Given the description of an element on the screen output the (x, y) to click on. 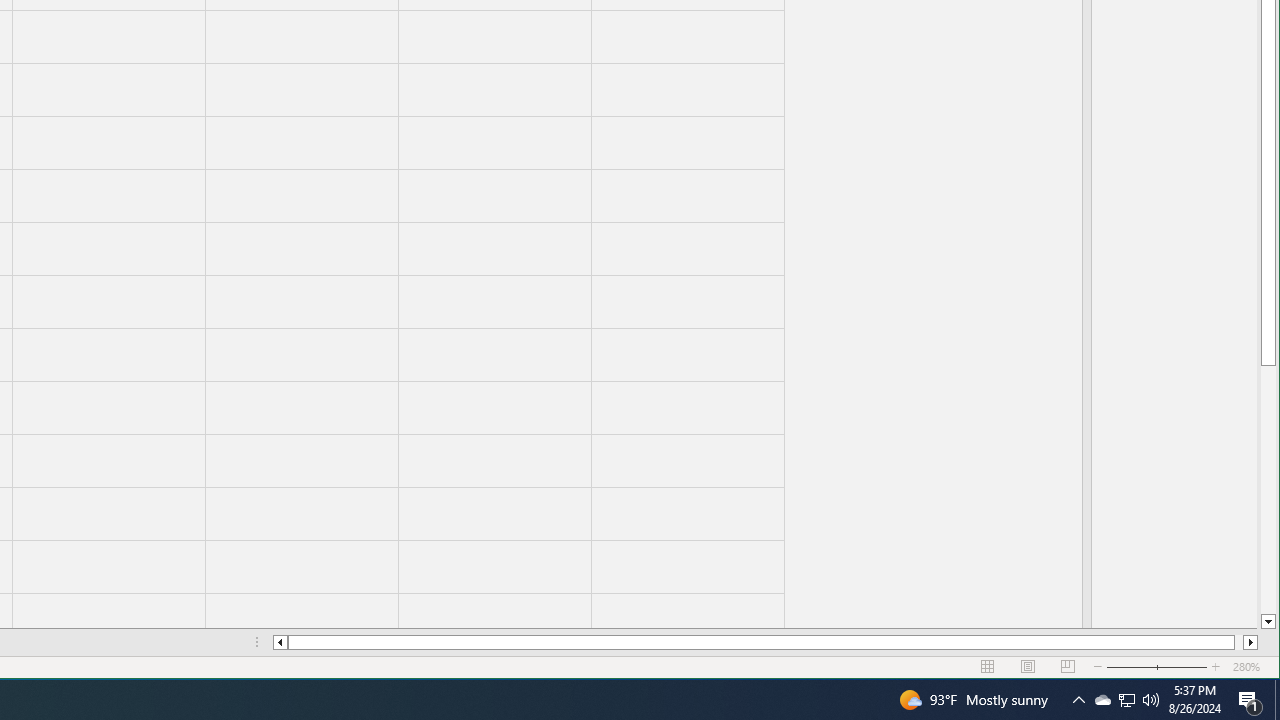
Action Center, 1 new notification (1250, 699)
